Given the description of an element on the screen output the (x, y) to click on. 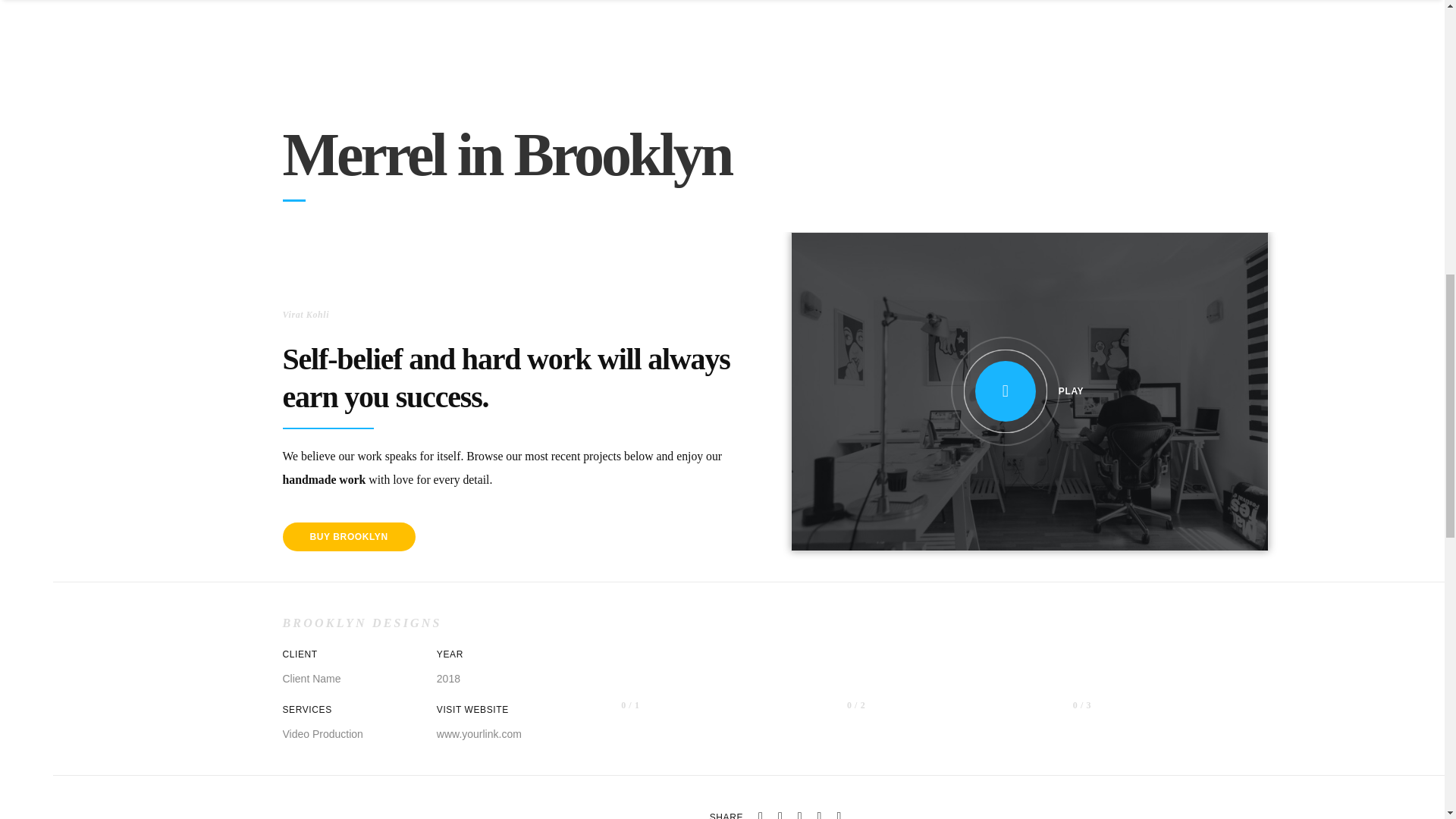
www.yourlink.com (478, 734)
BUY BROOKLYN (348, 536)
